Given the description of an element on the screen output the (x, y) to click on. 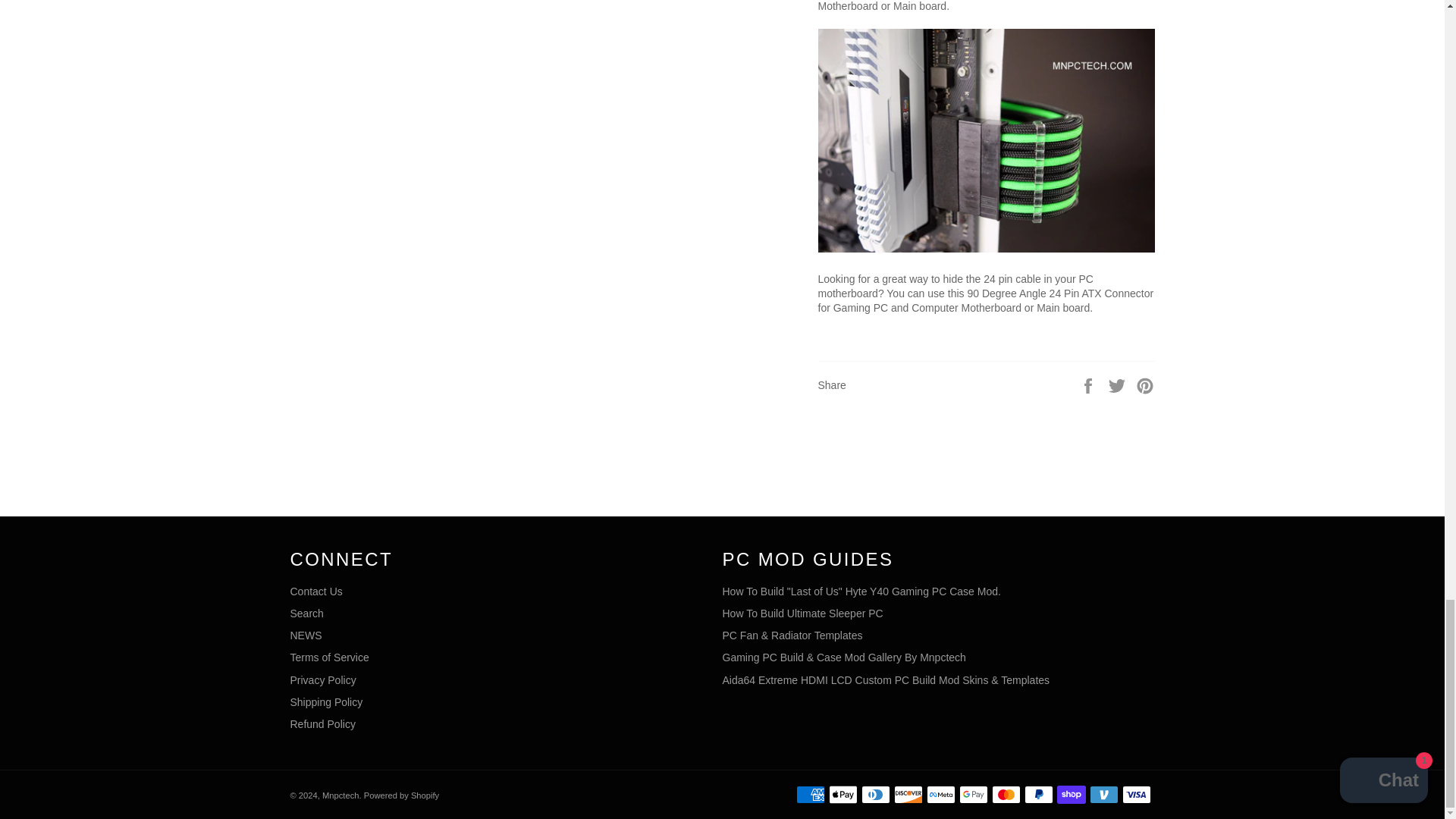
Share on Facebook (1089, 384)
Pin on Pinterest (1144, 384)
Tweet on Twitter (1118, 384)
